Given the description of an element on the screen output the (x, y) to click on. 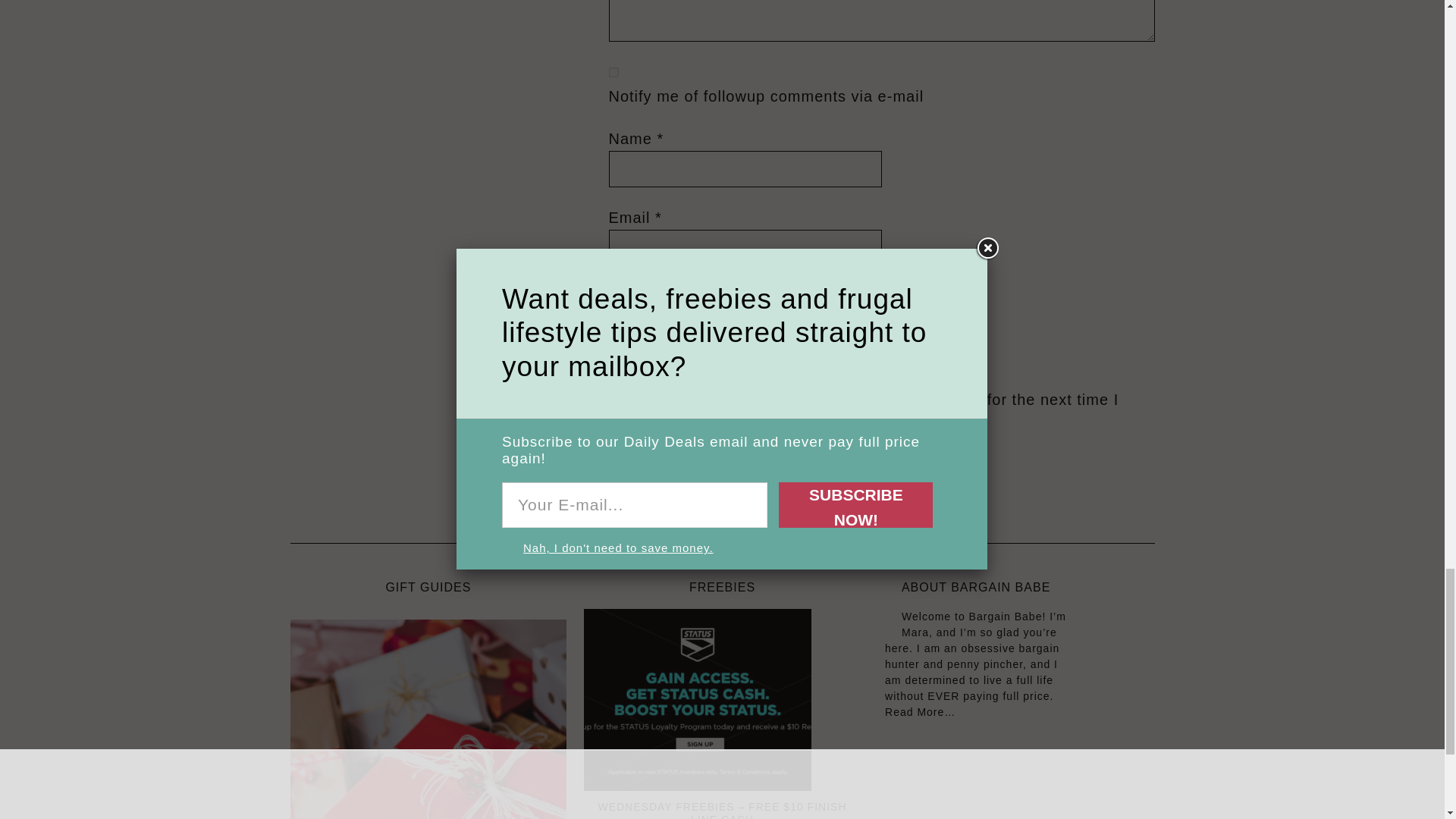
subscribe (612, 71)
Post Comment (668, 468)
yes (881, 375)
